Given the description of an element on the screen output the (x, y) to click on. 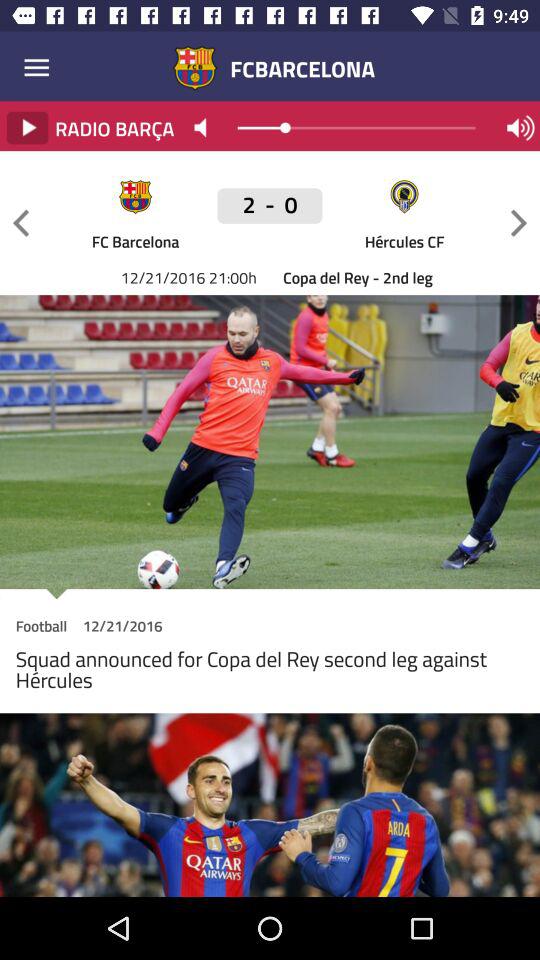
tap the icon above the copa del rey (404, 240)
